Given the description of an element on the screen output the (x, y) to click on. 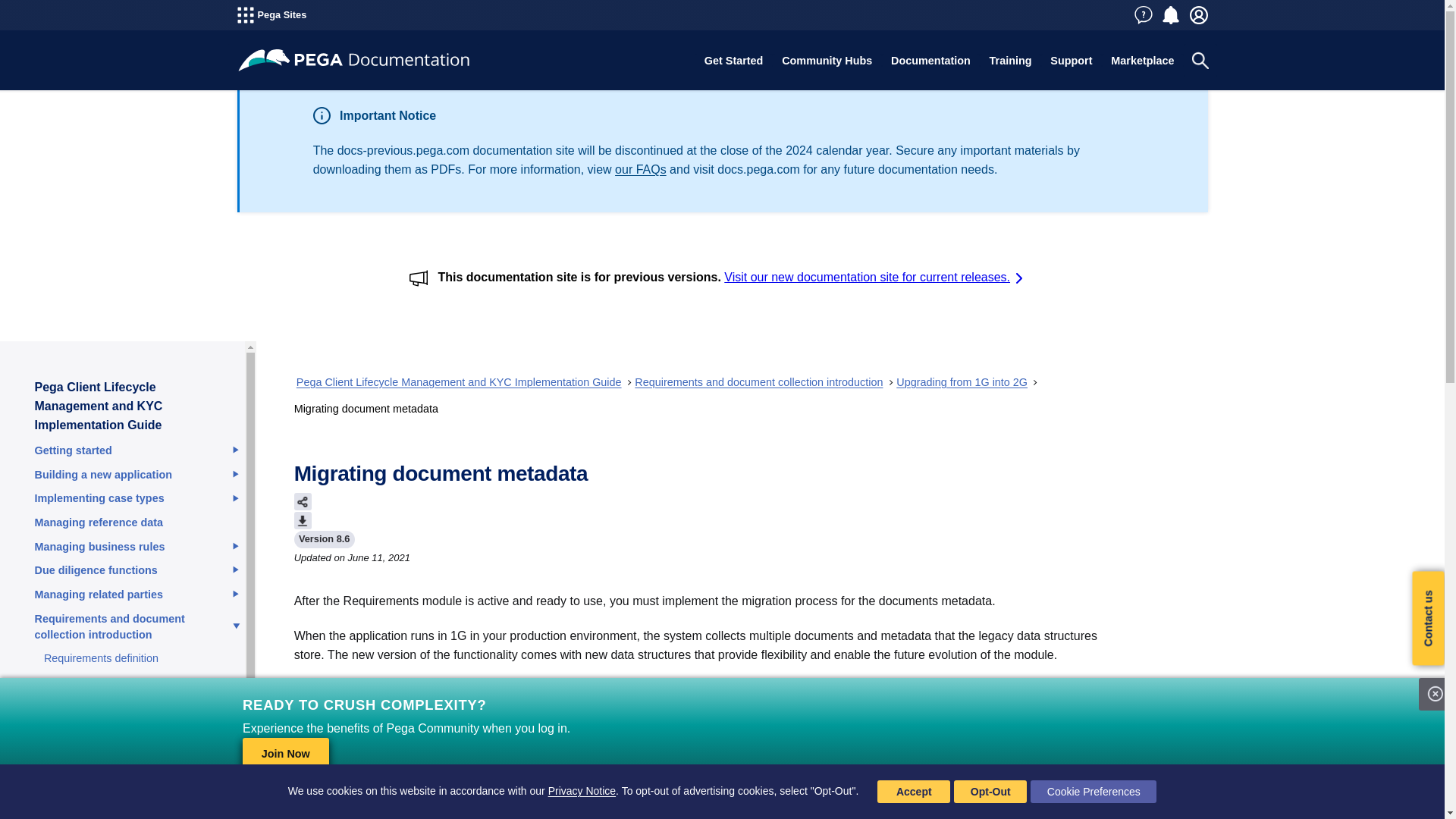
Community Hubs (827, 60)
Get Started (732, 60)
Toggle Search Panel (1200, 60)
